Given the description of an element on the screen output the (x, y) to click on. 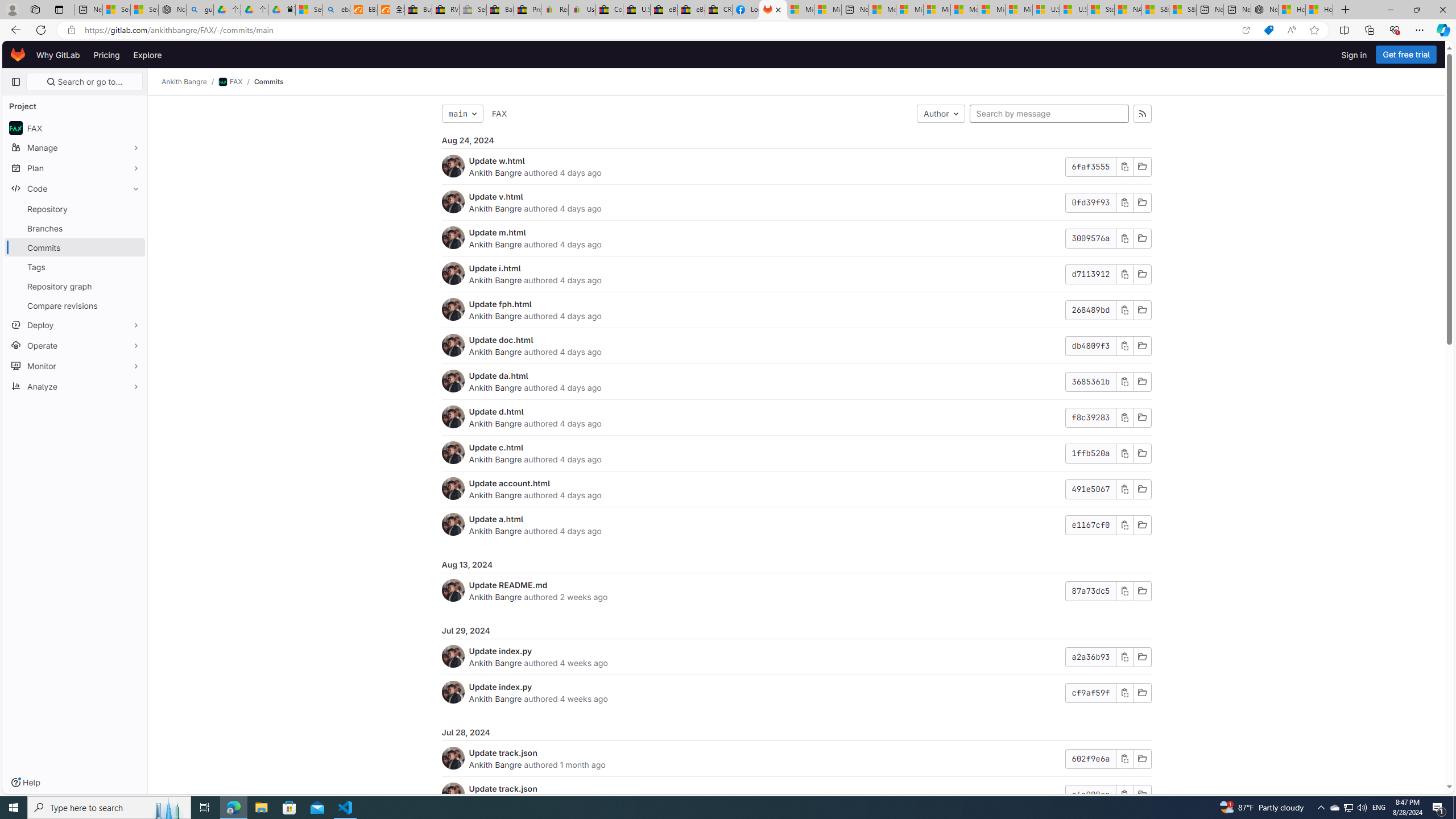
Update c.html (496, 447)
ebay - Search (336, 9)
Why GitLab (58, 54)
Tags (74, 266)
Sell worldwide with eBay - Sleeping (473, 9)
Pricing (106, 54)
How to Use a Monitor With Your Closed Laptop (1319, 9)
Baby Keepsakes & Announcements for sale | eBay (499, 9)
User Privacy Notice | eBay (581, 9)
Update v.htmlAnkith Bangre authored 4 days ago0fd39f93 (796, 202)
